Given the description of an element on the screen output the (x, y) to click on. 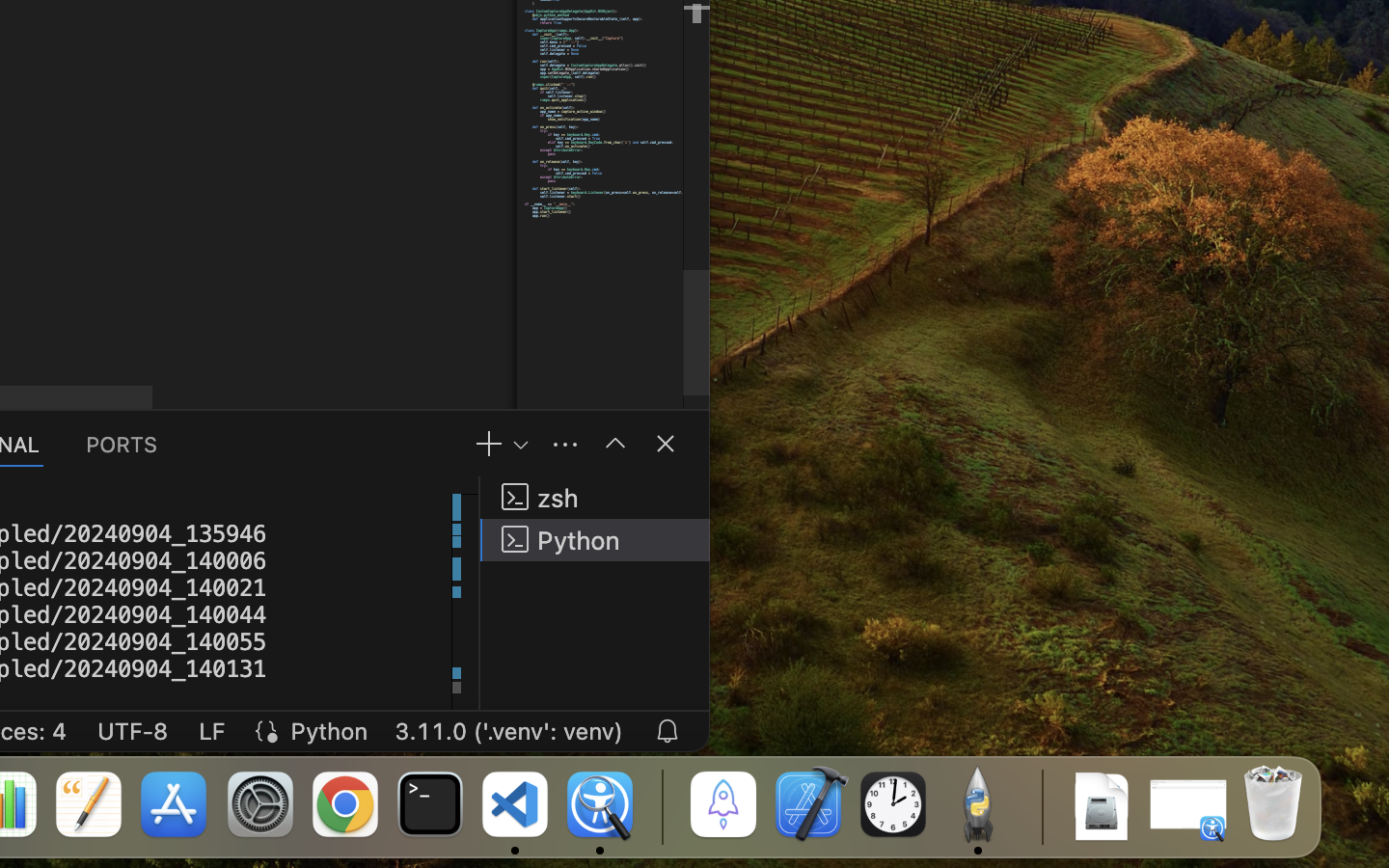
 Element type: AXButton (665, 443)
 Element type: AXCheckBox (615, 443)
zsh  Element type: AXGroup (594, 497)
0.4285714328289032 Element type: AXDockItem (660, 805)
Python  Element type: AXGroup (594, 539)
